Given the description of an element on the screen output the (x, y) to click on. 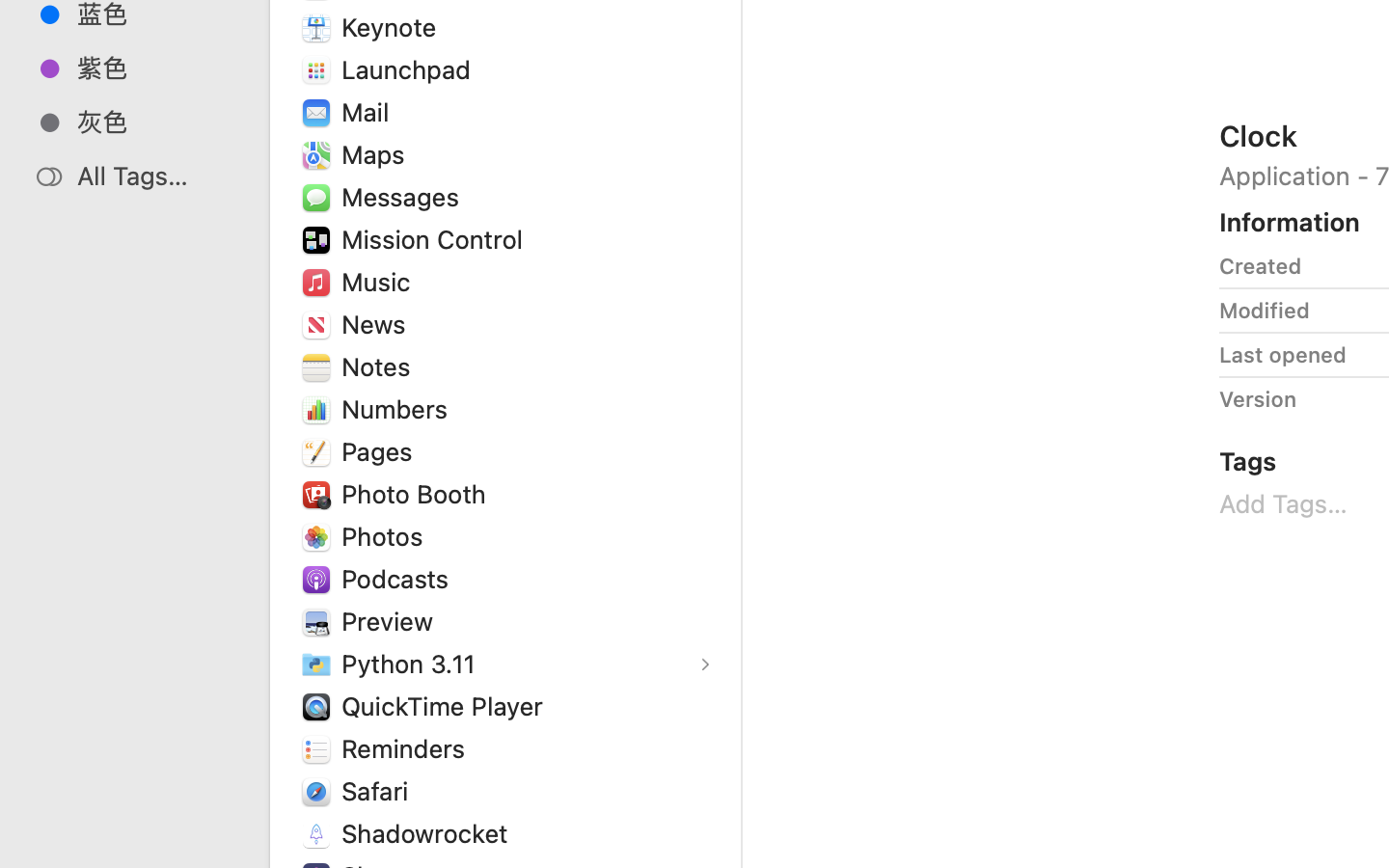
Mission Control Element type: AXTextField (436, 238)
0 Element type: AXRadioButton (23, 846)
Photo Booth Element type: AXTextField (417, 493)
Created Element type: AXStaticText (1260, 265)
Safari Element type: AXTextField (378, 790)
